Given the description of an element on the screen output the (x, y) to click on. 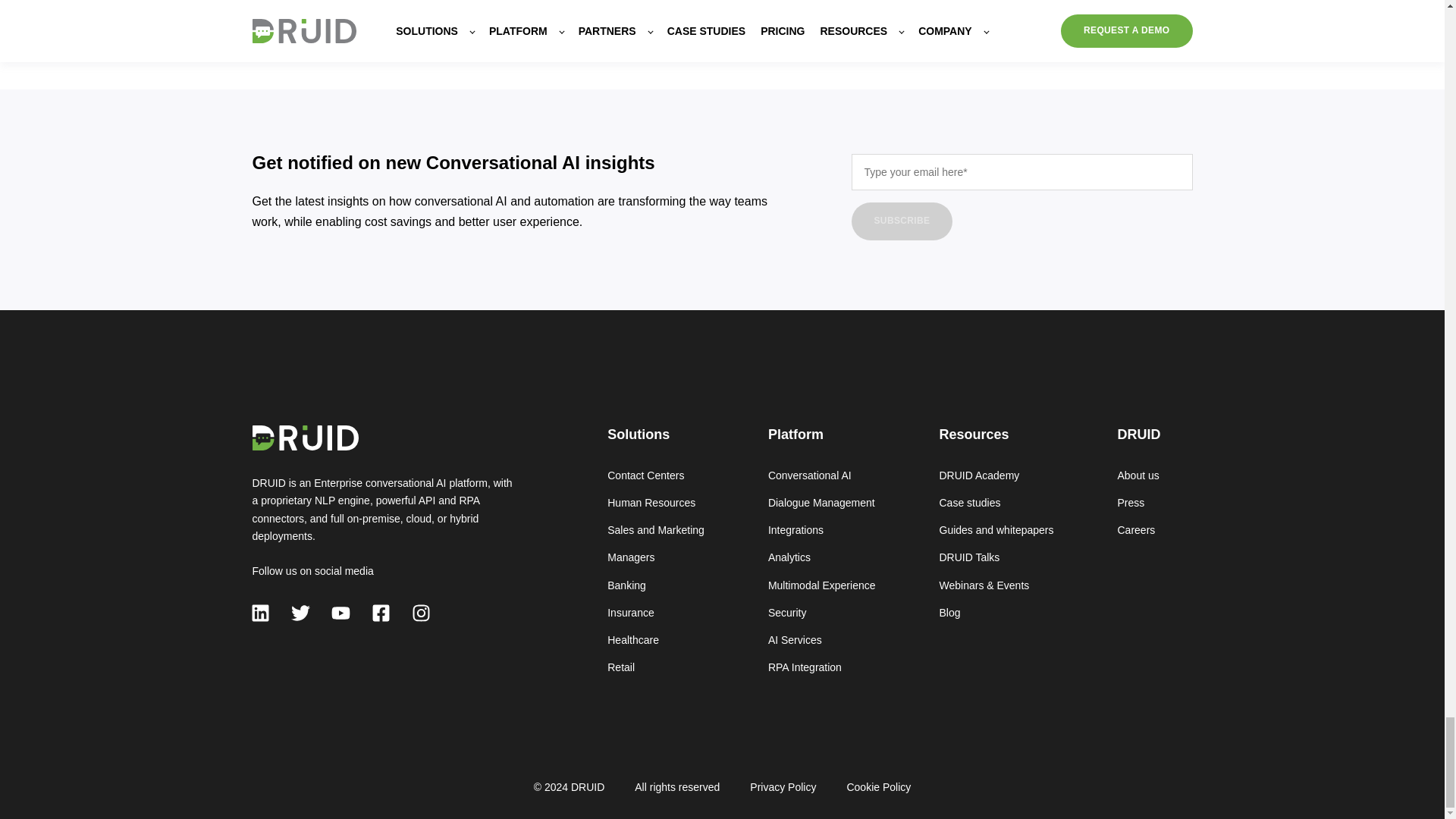
SUBSCRIBE (901, 220)
